Given the description of an element on the screen output the (x, y) to click on. 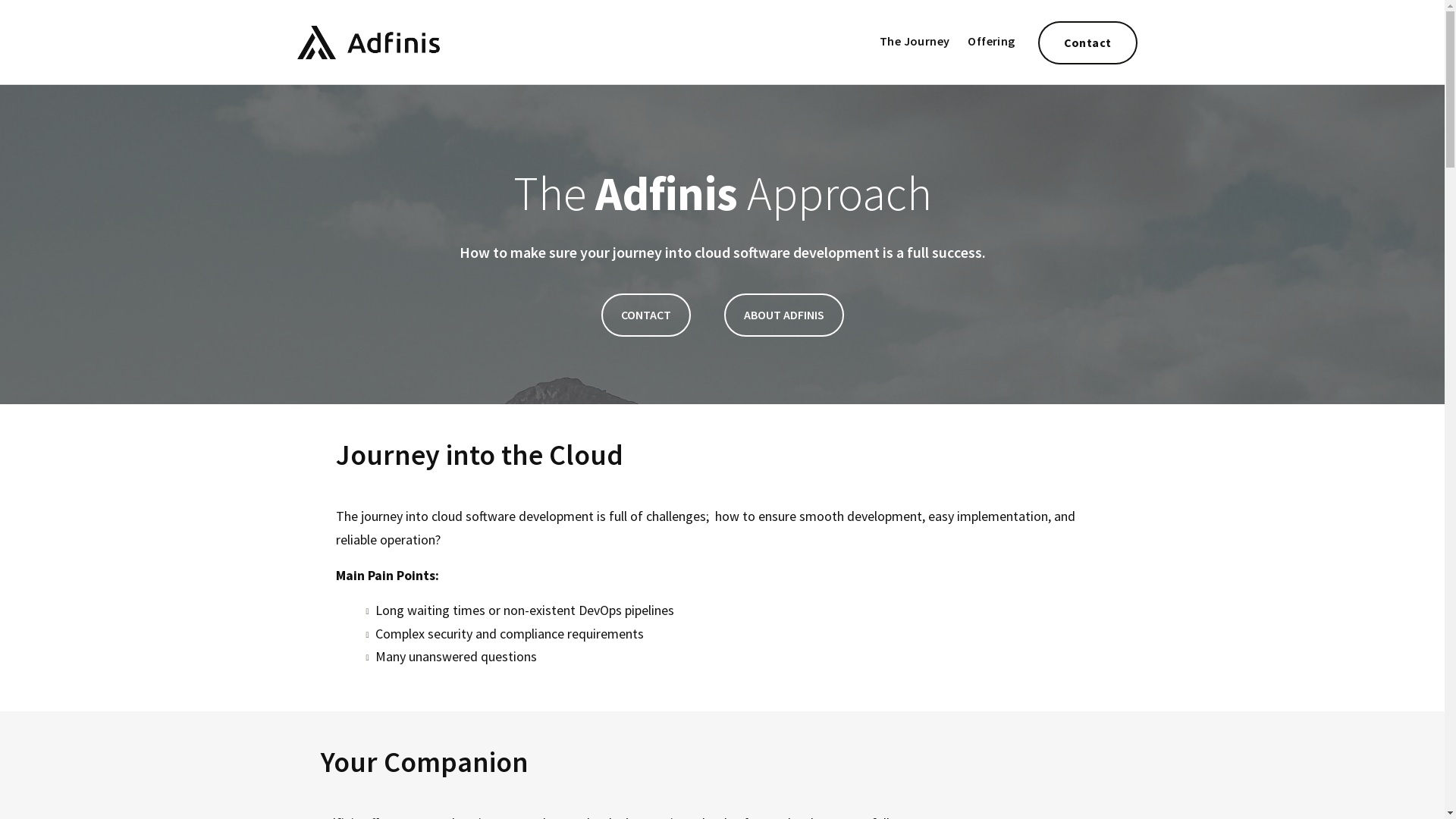
Offering Element type: text (990, 40)
The Journey Element type: text (914, 40)
Contact Element type: text (1087, 42)
ABOUT ADFINIS Element type: text (783, 314)
CONTACT Element type: text (645, 314)
